Given the description of an element on the screen output the (x, y) to click on. 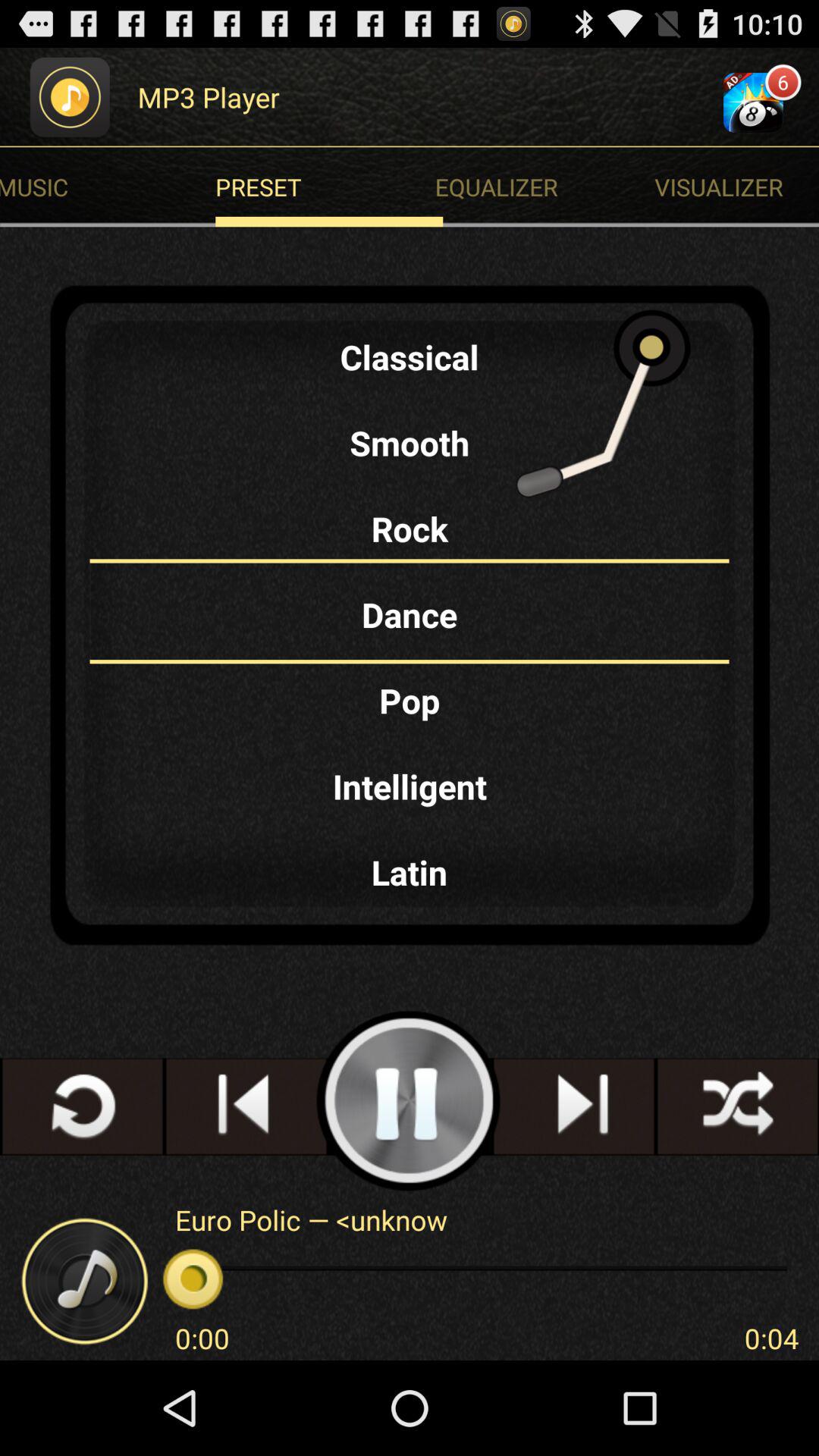
play song (408, 1101)
